Given the description of an element on the screen output the (x, y) to click on. 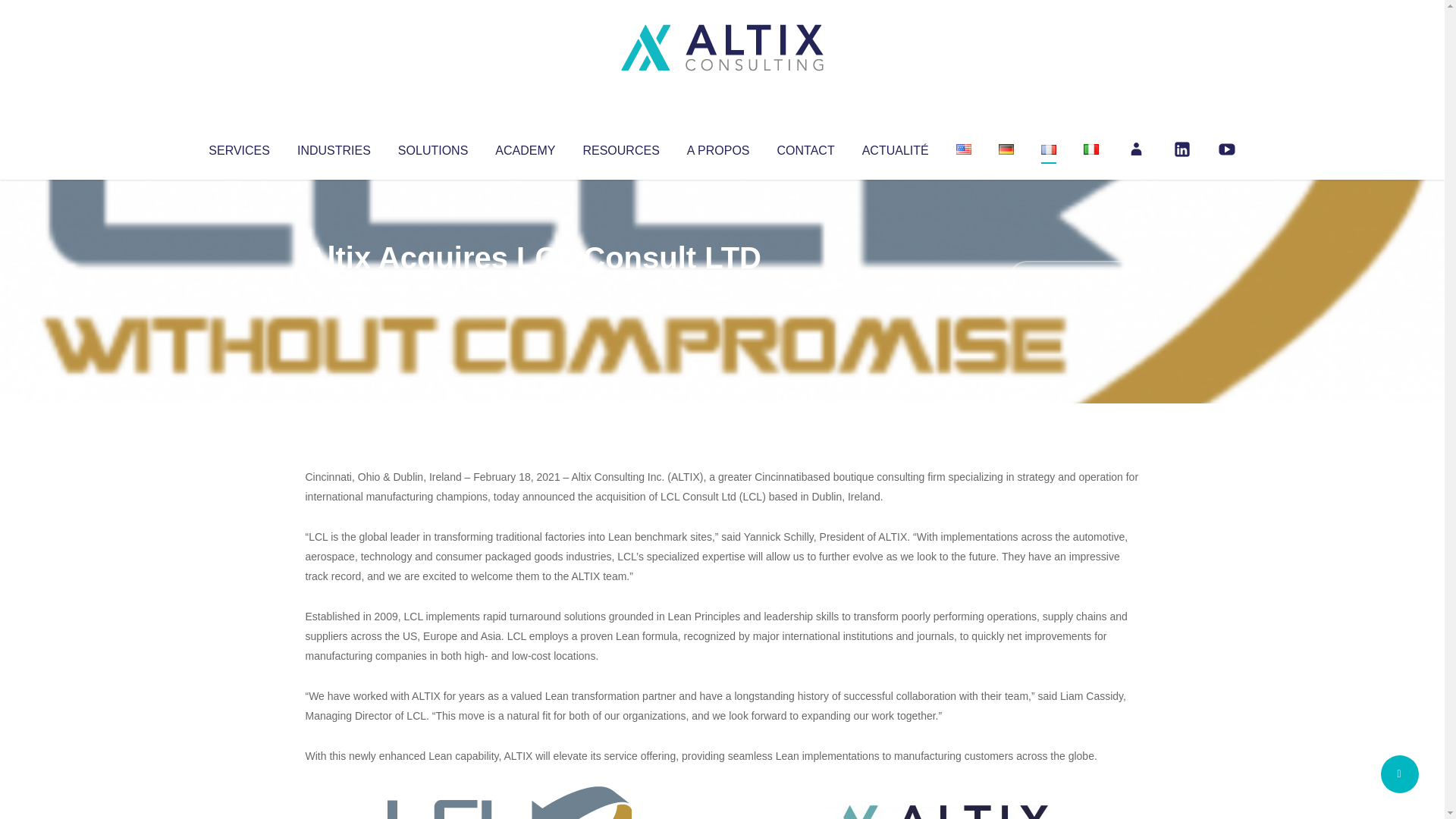
A PROPOS (718, 146)
Altix (333, 287)
Uncategorized (530, 287)
SERVICES (238, 146)
Articles par Altix (333, 287)
RESOURCES (620, 146)
INDUSTRIES (334, 146)
No Comments (1073, 278)
ACADEMY (524, 146)
SOLUTIONS (432, 146)
